Given the description of an element on the screen output the (x, y) to click on. 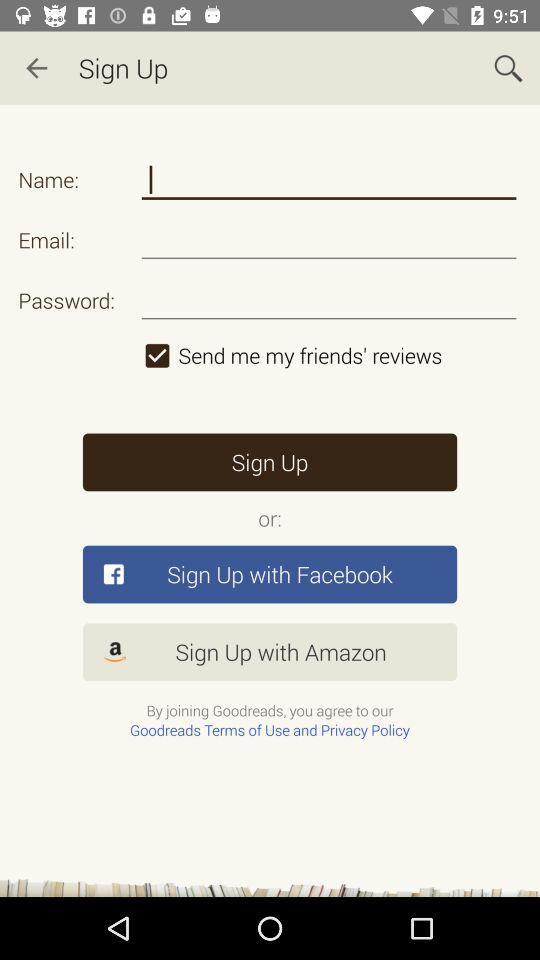
type email (328, 240)
